Given the description of an element on the screen output the (x, y) to click on. 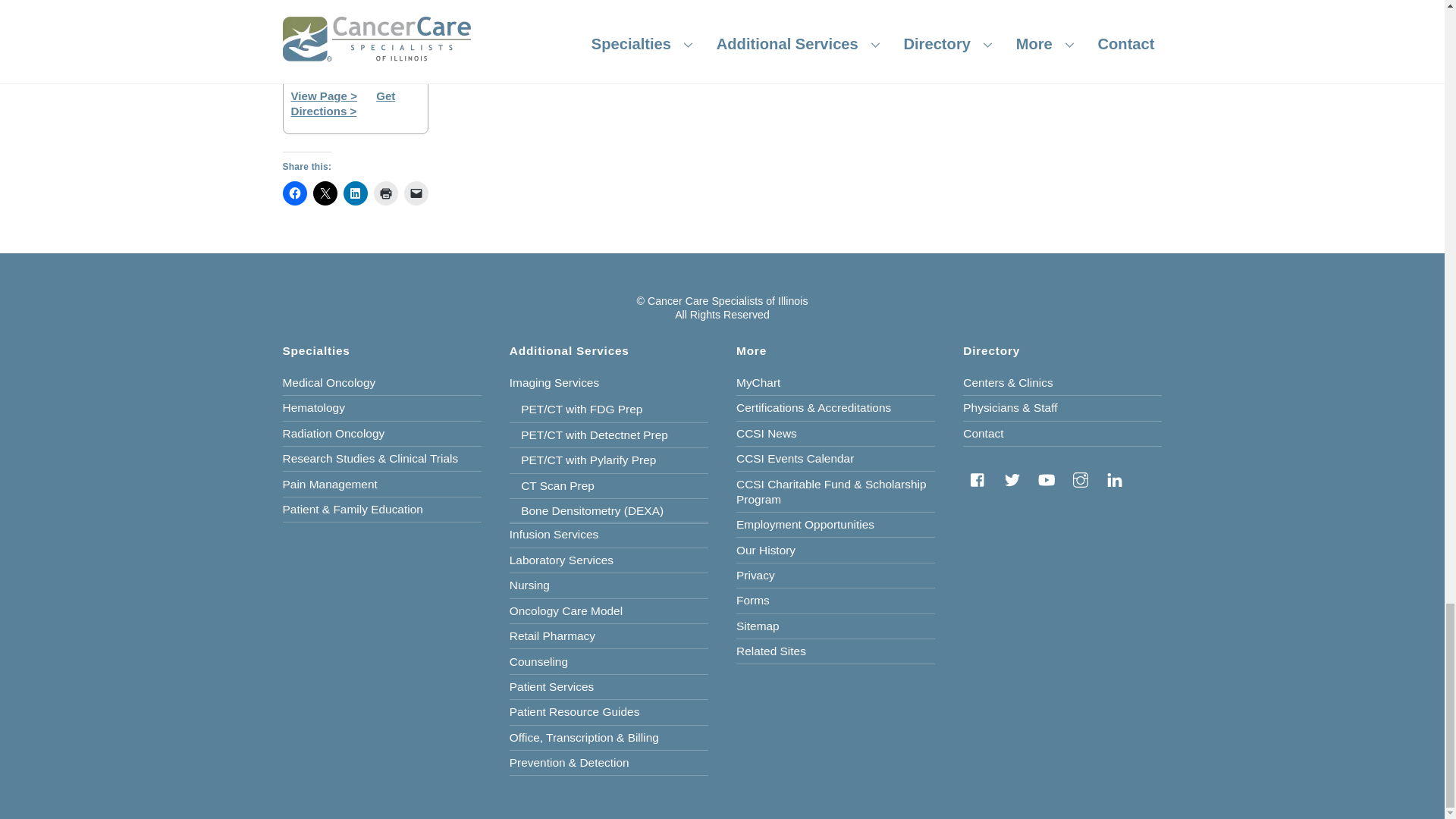
Click to share on X (324, 192)
Click to share on Facebook (293, 192)
Click to email a link to a friend (415, 192)
Click to share on LinkedIn (354, 192)
Click to print (384, 192)
